Given the description of an element on the screen output the (x, y) to click on. 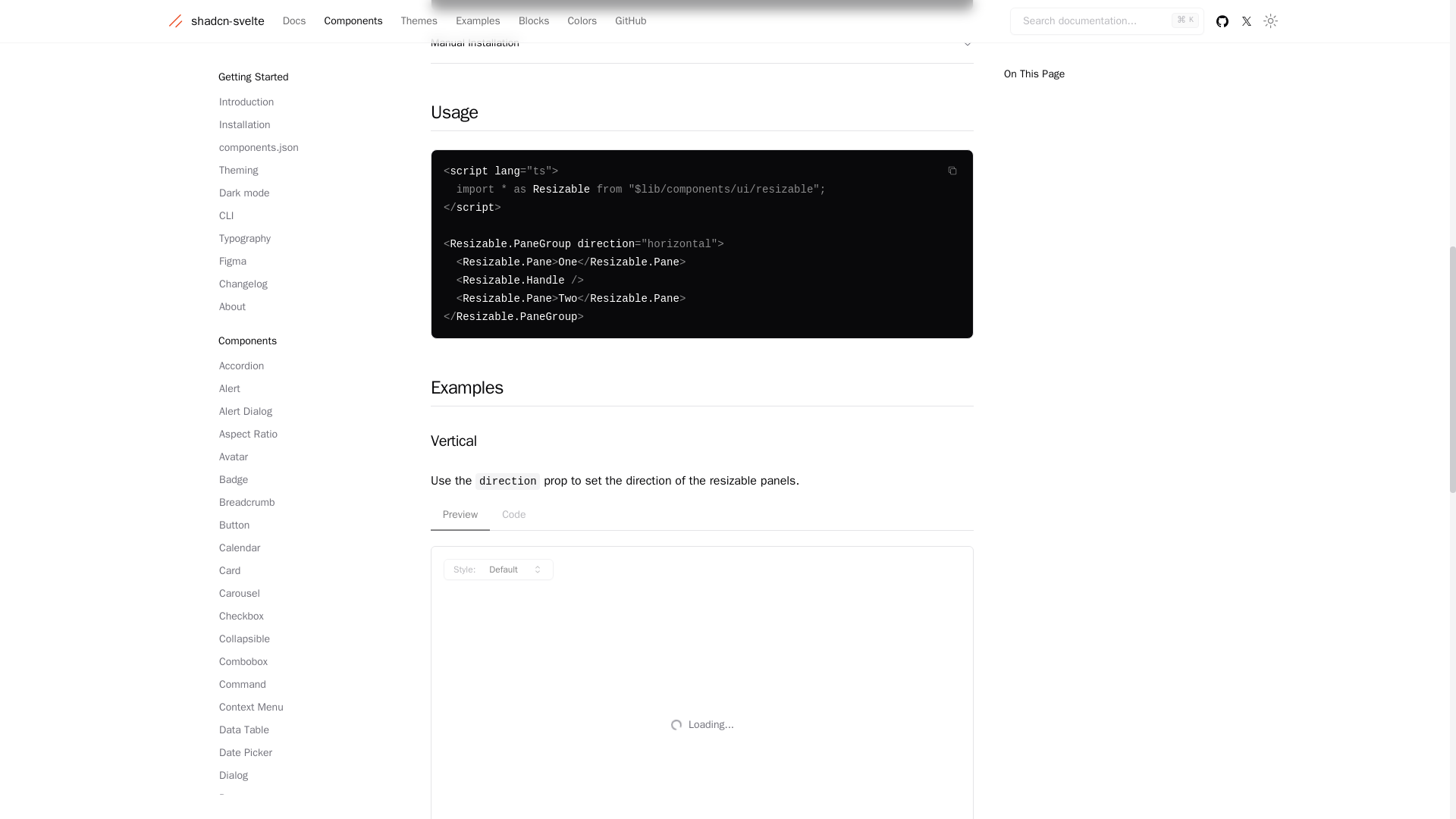
Usage (702, 115)
Examples (702, 390)
Vertical (702, 441)
